Given the description of an element on the screen output the (x, y) to click on. 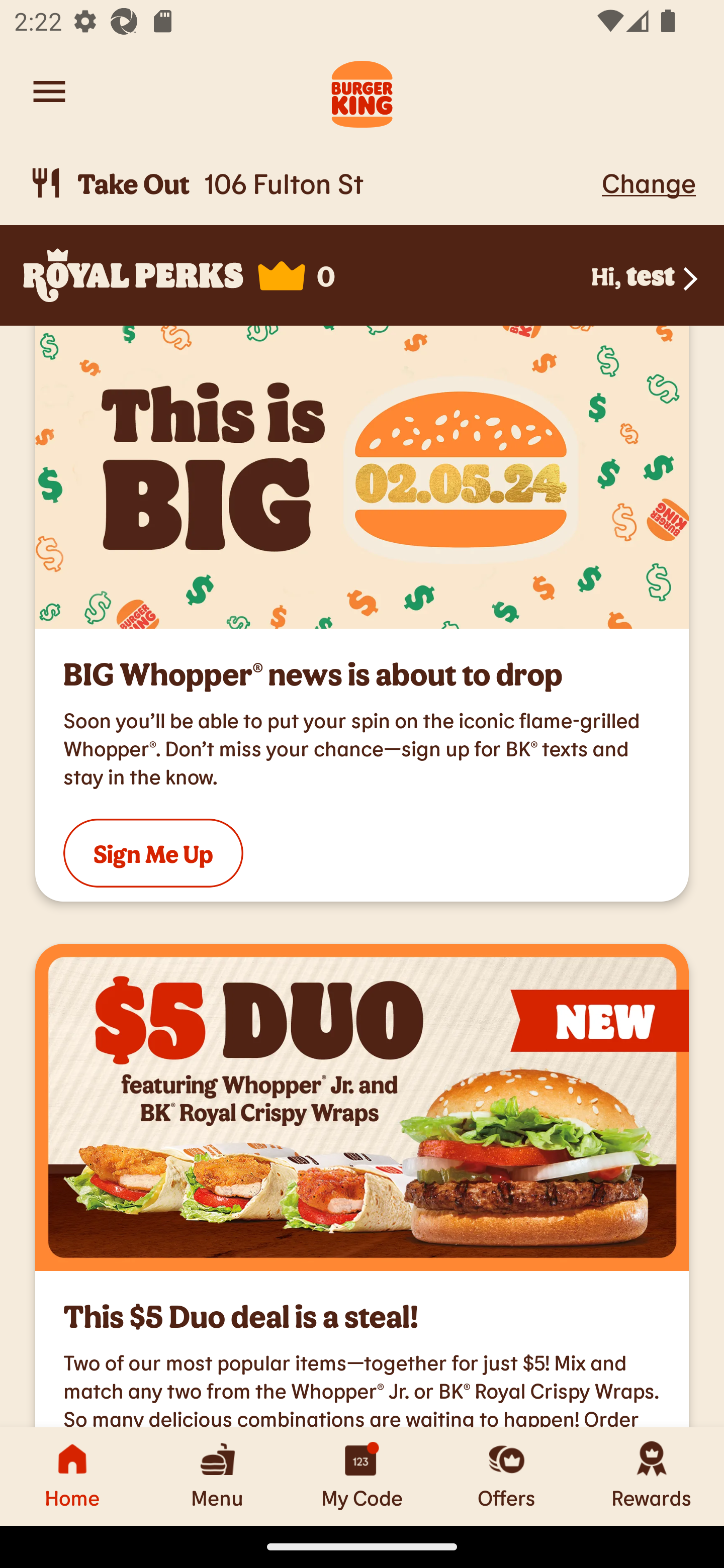
Burger King Logo. Navigate to Home (362, 91)
Navigate to account menu  (49, 91)
Take Out, 106 Fulton St  Take Out 106 Fulton St (311, 183)
Change (648, 182)
MDW Teaser Auth App (361, 477)
Sign Me Up (153, 852)
$5 Duo ft. Wraps  (361, 1107)
Home (72, 1475)
Menu (216, 1475)
My Code (361, 1475)
Offers (506, 1475)
Rewards (651, 1475)
